Given the description of an element on the screen output the (x, y) to click on. 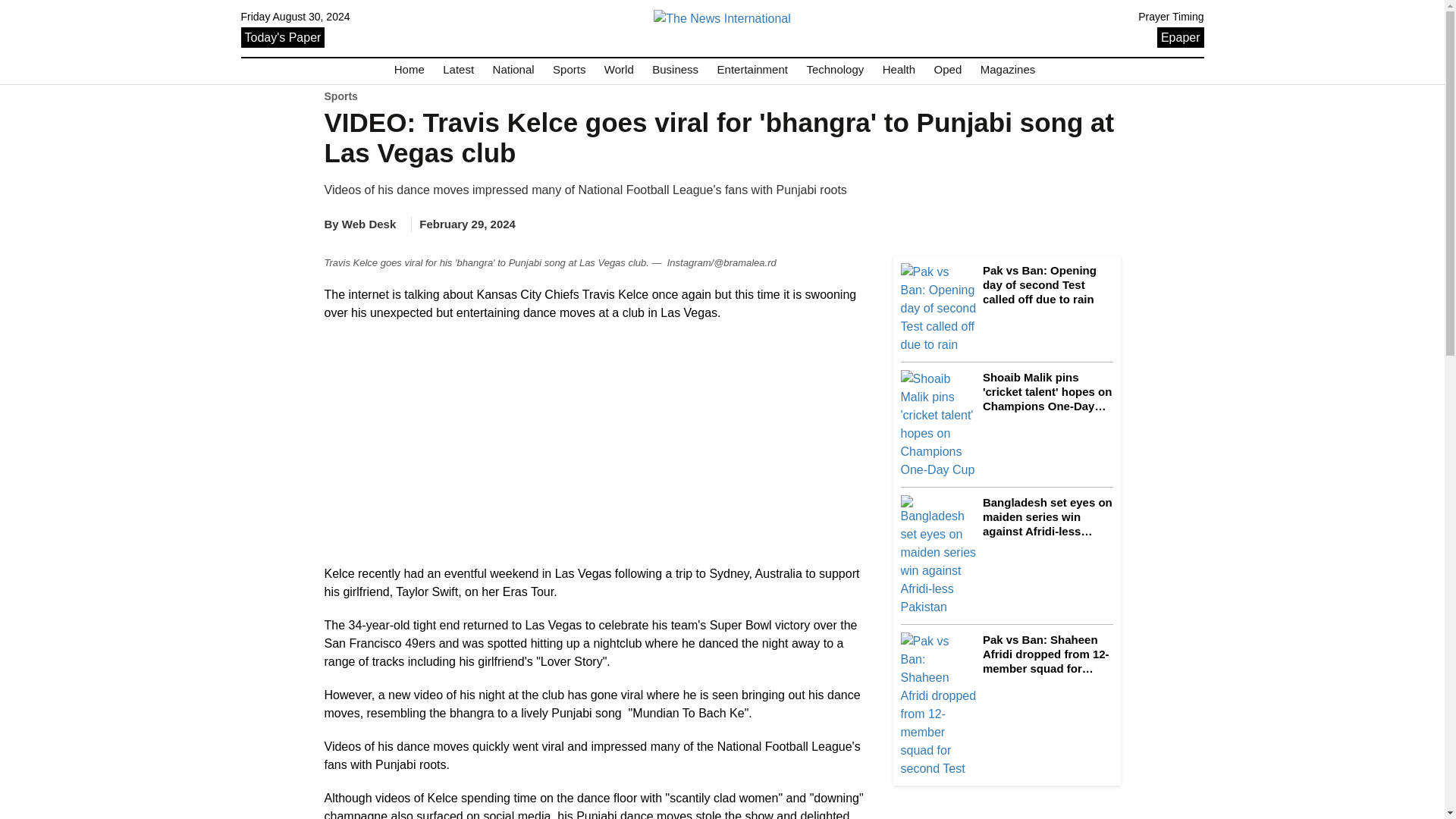
Epaper (1180, 37)
Today's Paper (282, 37)
Latest (458, 69)
Technology (833, 69)
Home (409, 69)
Entertainment (752, 69)
Prayer Timing (1171, 16)
Sports (568, 69)
World (619, 69)
Business (675, 69)
